Given the description of an element on the screen output the (x, y) to click on. 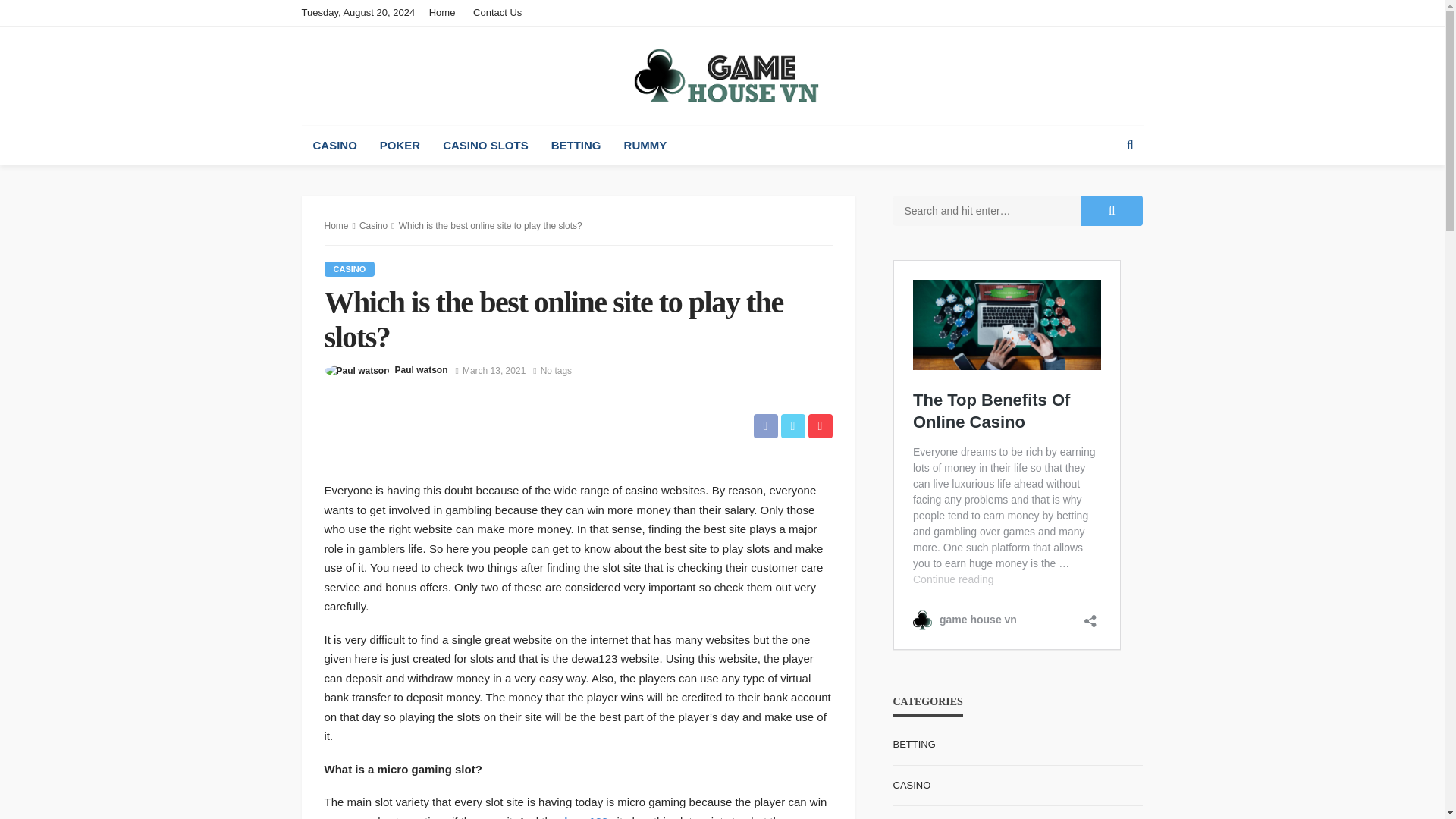
Home (446, 12)
Casino (373, 225)
dewa123 (584, 816)
CASINO (334, 145)
CASINO (349, 268)
POKER (399, 145)
CASINO SLOTS (485, 145)
Paul watson (421, 369)
BETTING (576, 145)
RUMMY (645, 145)
